Given the description of an element on the screen output the (x, y) to click on. 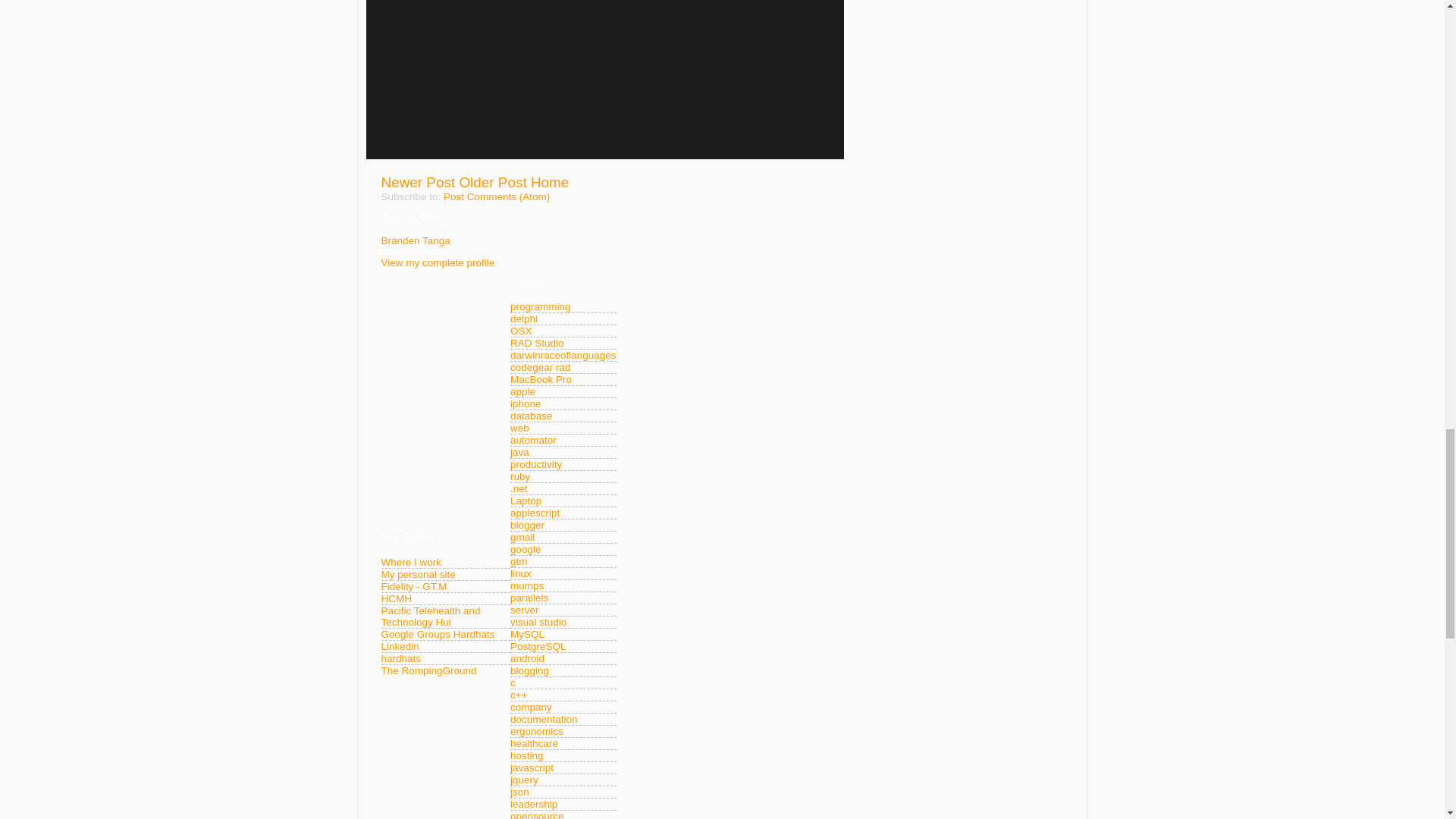
Newer Post (417, 182)
Older Post (491, 182)
